Given the description of an element on the screen output the (x, y) to click on. 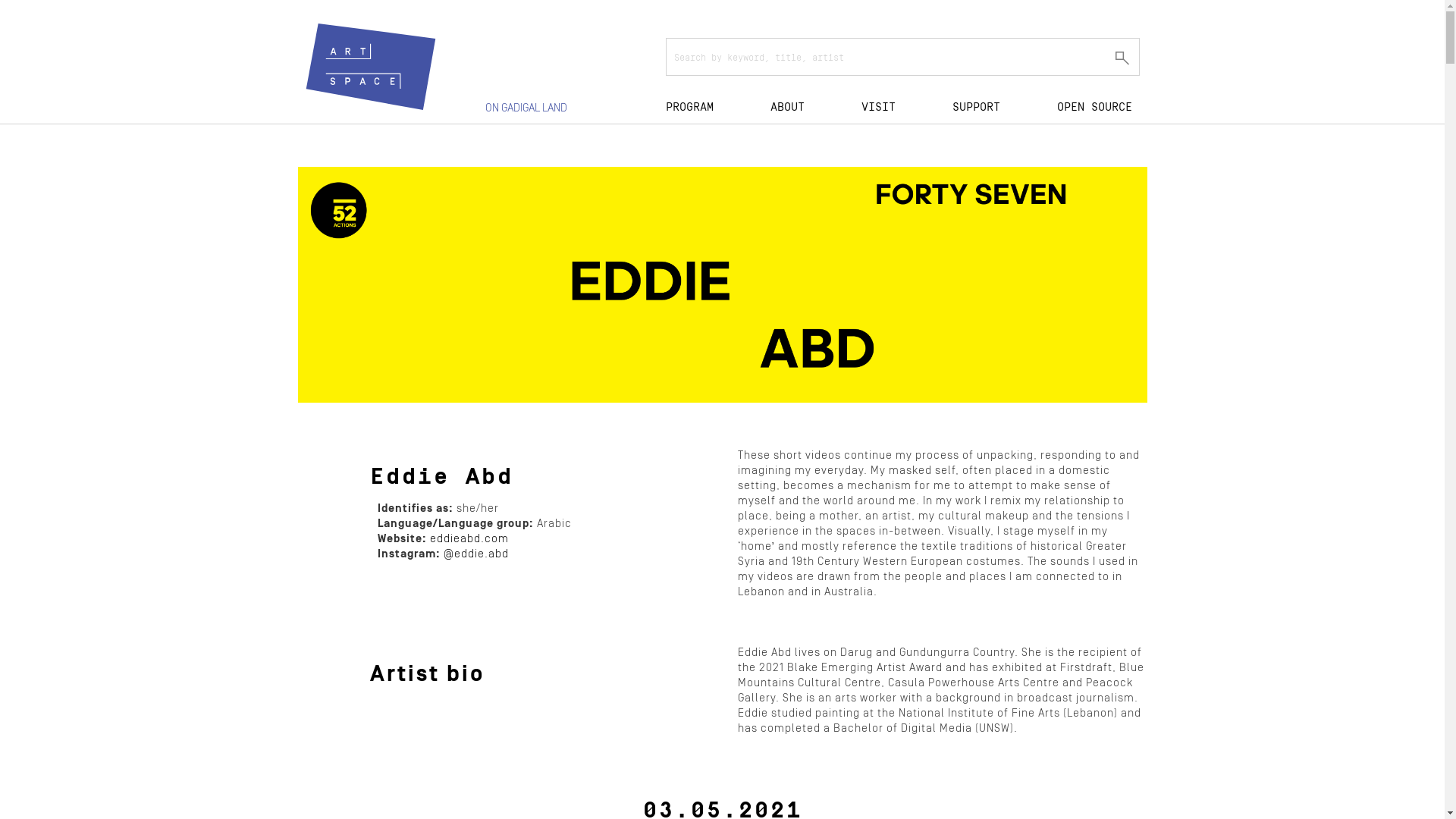
SUPPORT Element type: text (976, 105)
VISIT Element type: text (878, 105)
PROGRAM Element type: text (689, 105)
ABOUT Element type: text (787, 105)
@eddie.abd Element type: text (475, 553)
eddieabd.com Element type: text (468, 538)
OPEN SOURCE Element type: text (1094, 105)
